Given the description of an element on the screen output the (x, y) to click on. 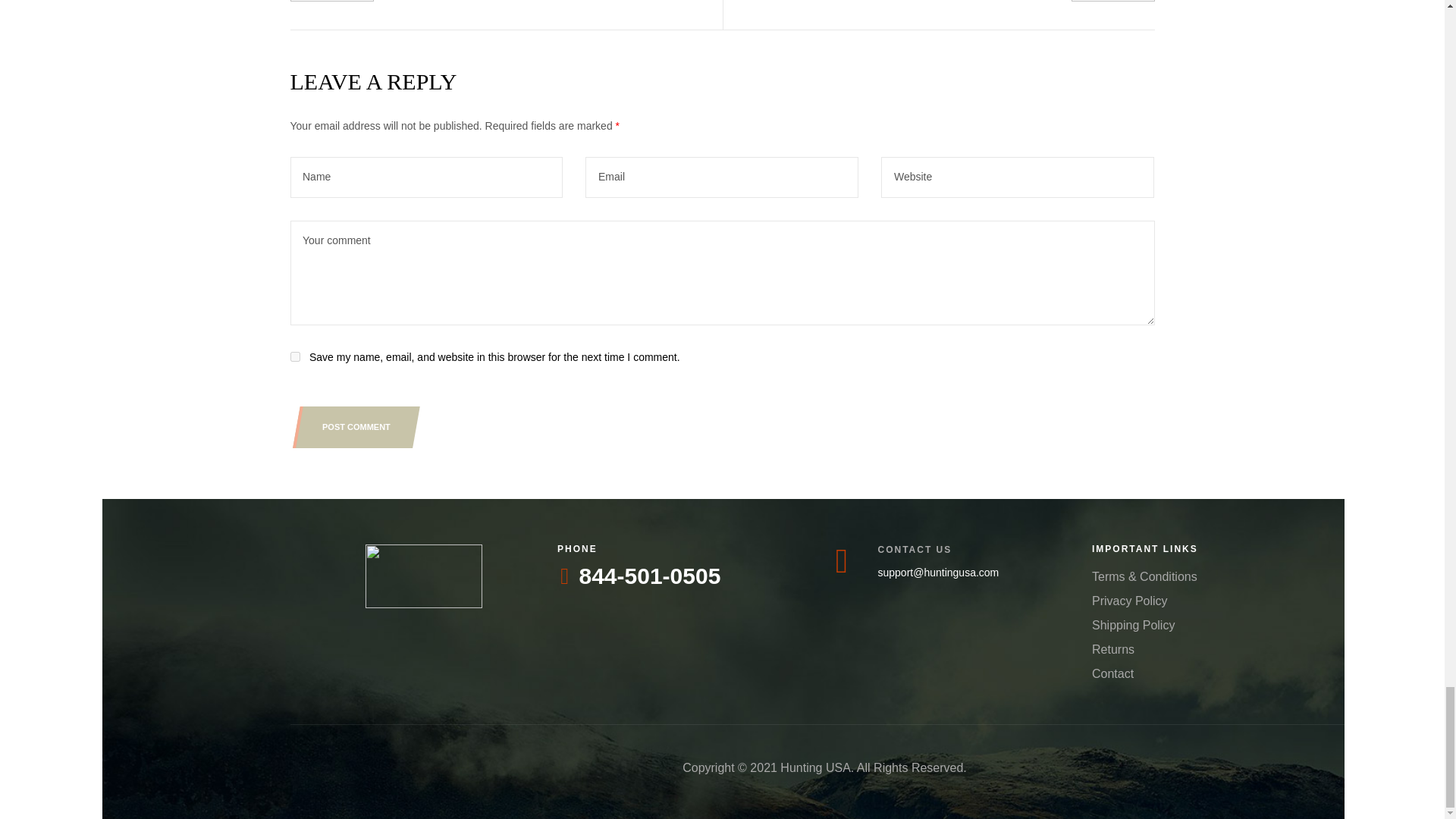
yes (294, 356)
